Given the description of an element on the screen output the (x, y) to click on. 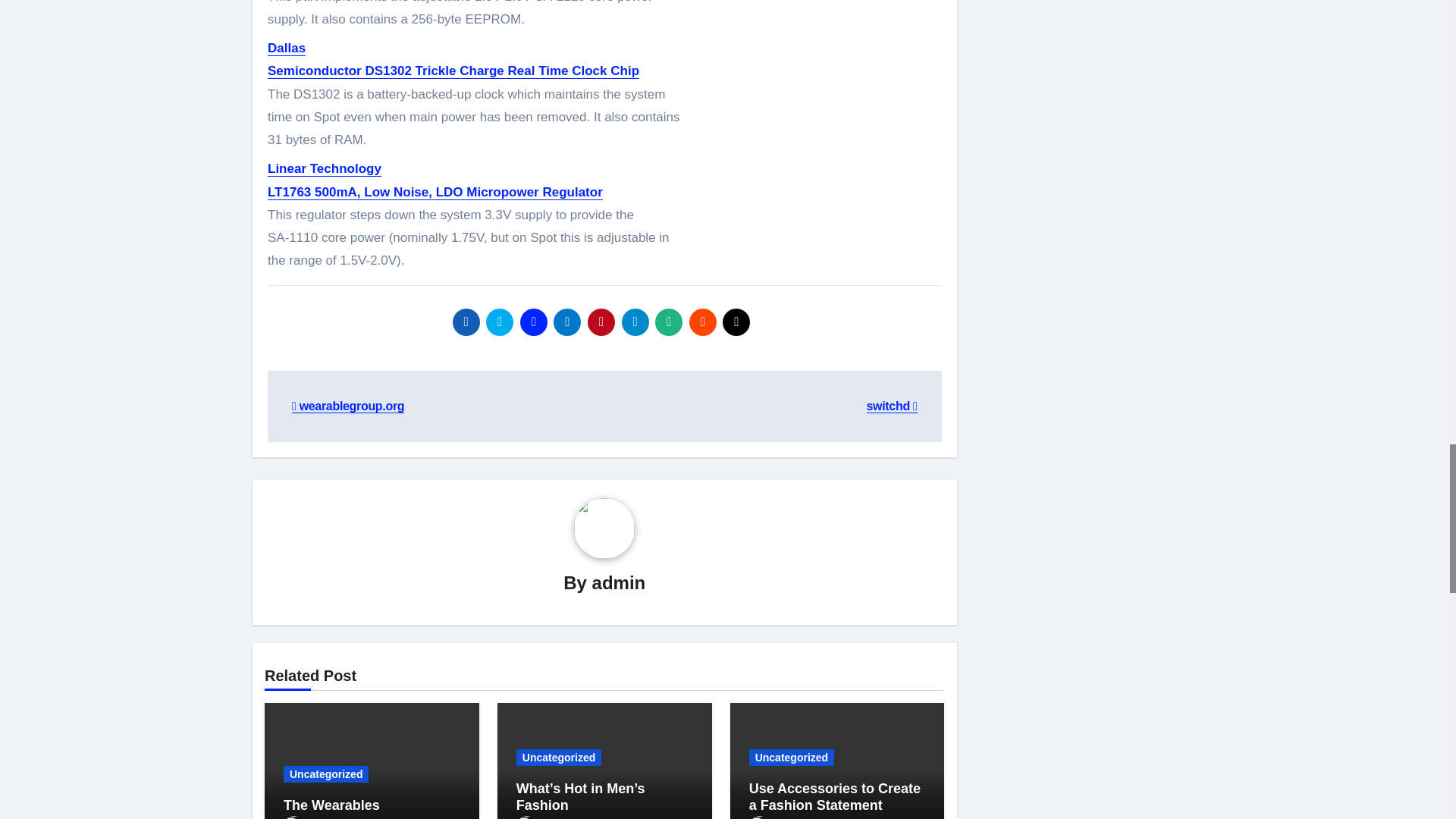
Permalink to: Use Accessories to Create a Fashion Statement (834, 797)
Permalink to: The Wearables (331, 805)
